Given the description of an element on the screen output the (x, y) to click on. 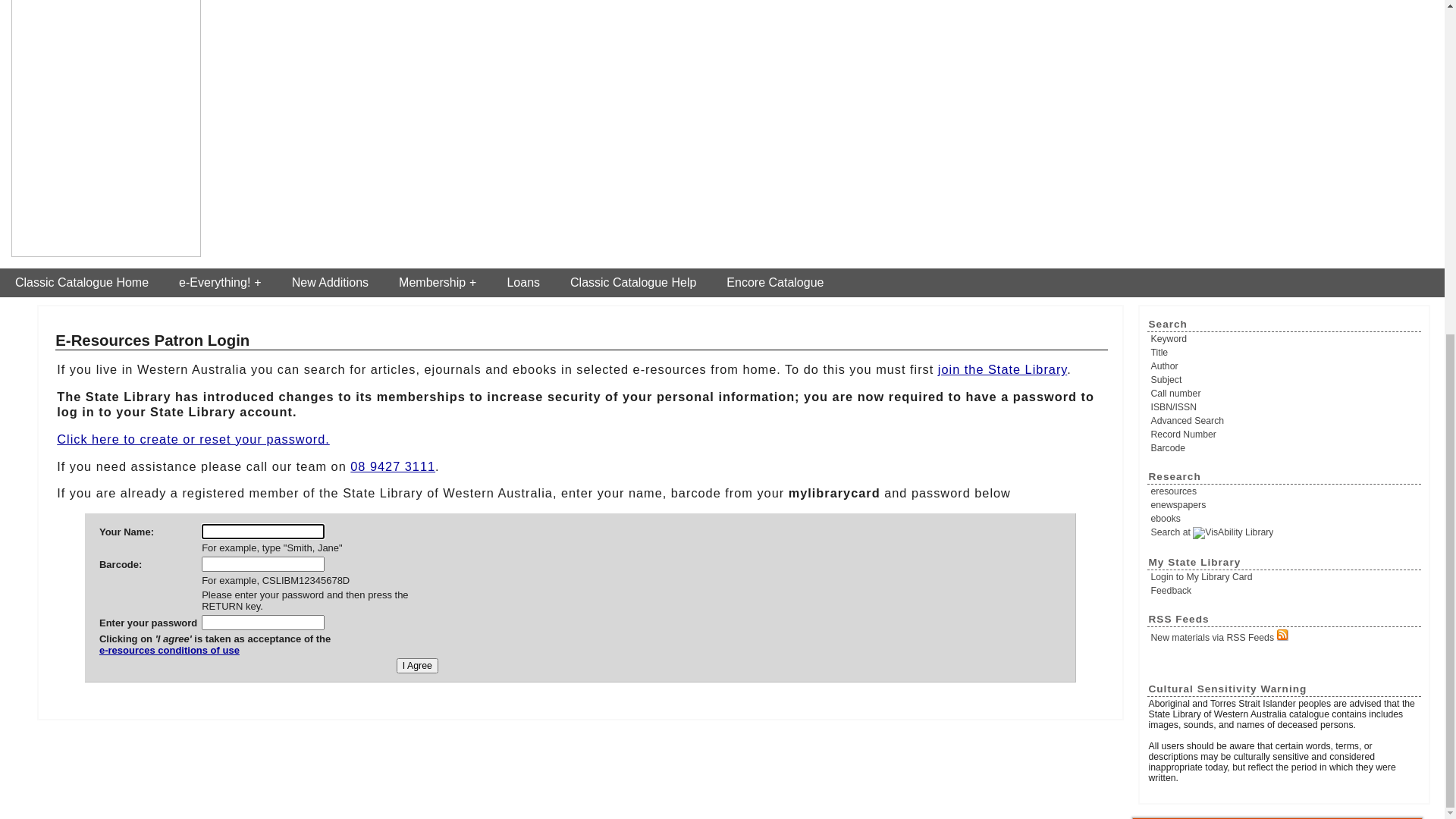
Login to My Library Card Element type: text (1377, 26)
Help Element type: text (1300, 26)
Home Element type: text (1267, 26)
